Given the description of an element on the screen output the (x, y) to click on. 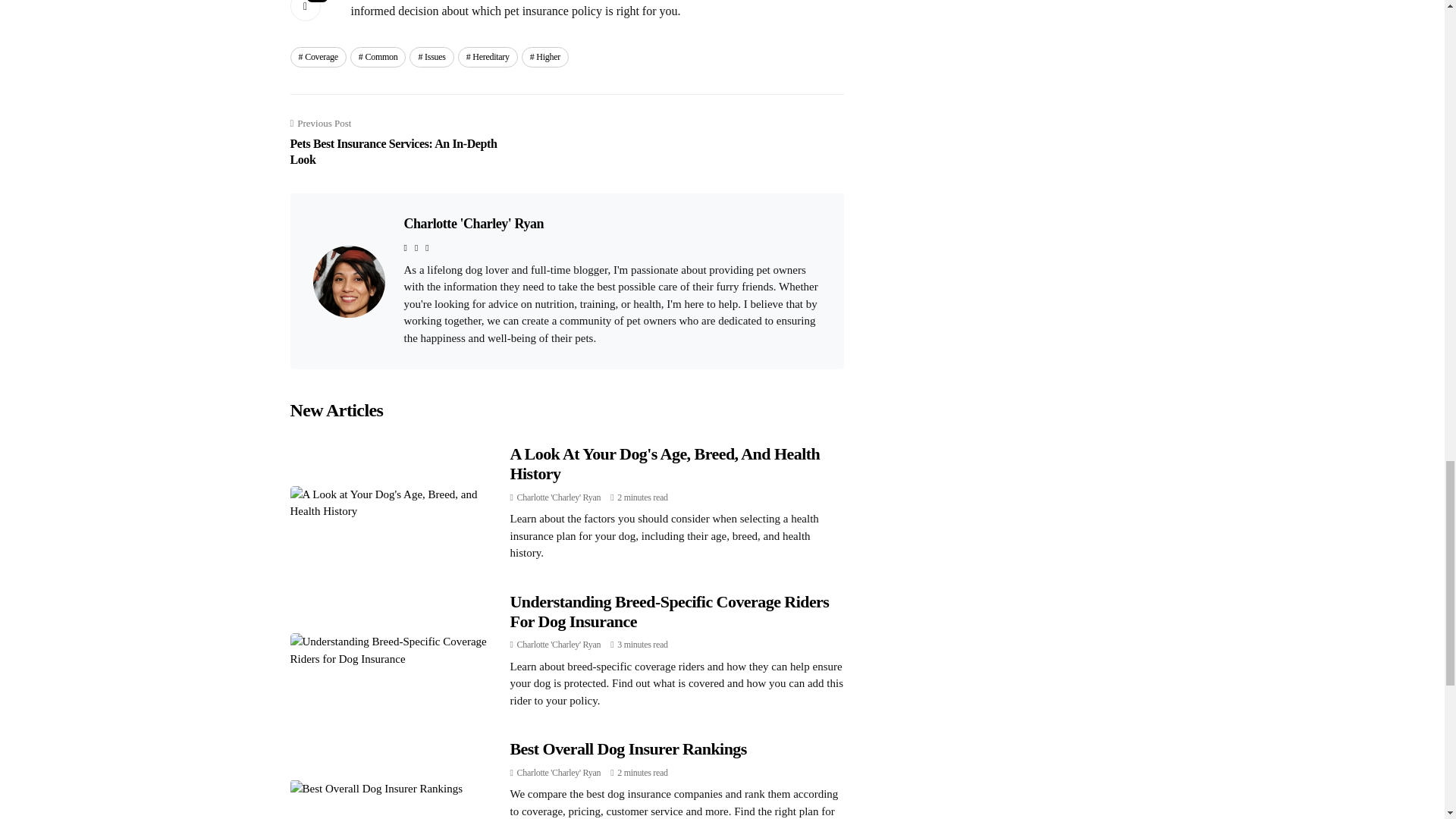
Posts by Charlotte 'Charley' Ryan (558, 772)
Posts by Charlotte 'Charley' Ryan (558, 644)
Posts by Charlotte 'Charley' Ryan (558, 497)
